Given the description of an element on the screen output the (x, y) to click on. 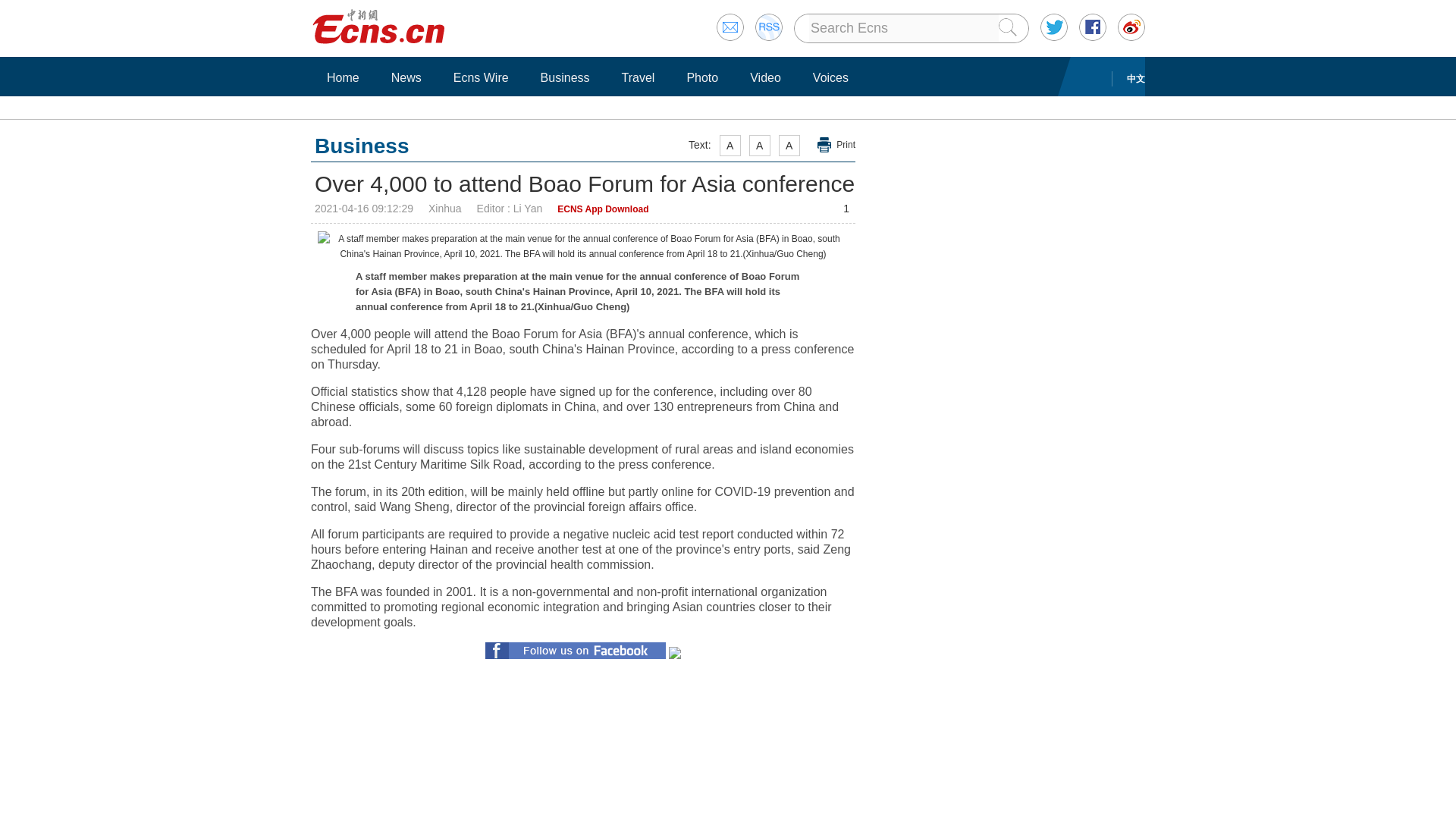
Voices (831, 77)
Search Ecns (903, 27)
Photo (702, 77)
Video (765, 77)
News (405, 77)
Ecns Wire (480, 77)
Travel (637, 77)
ECNS App Download (602, 208)
Print (836, 144)
Business (565, 77)
